Given the description of an element on the screen output the (x, y) to click on. 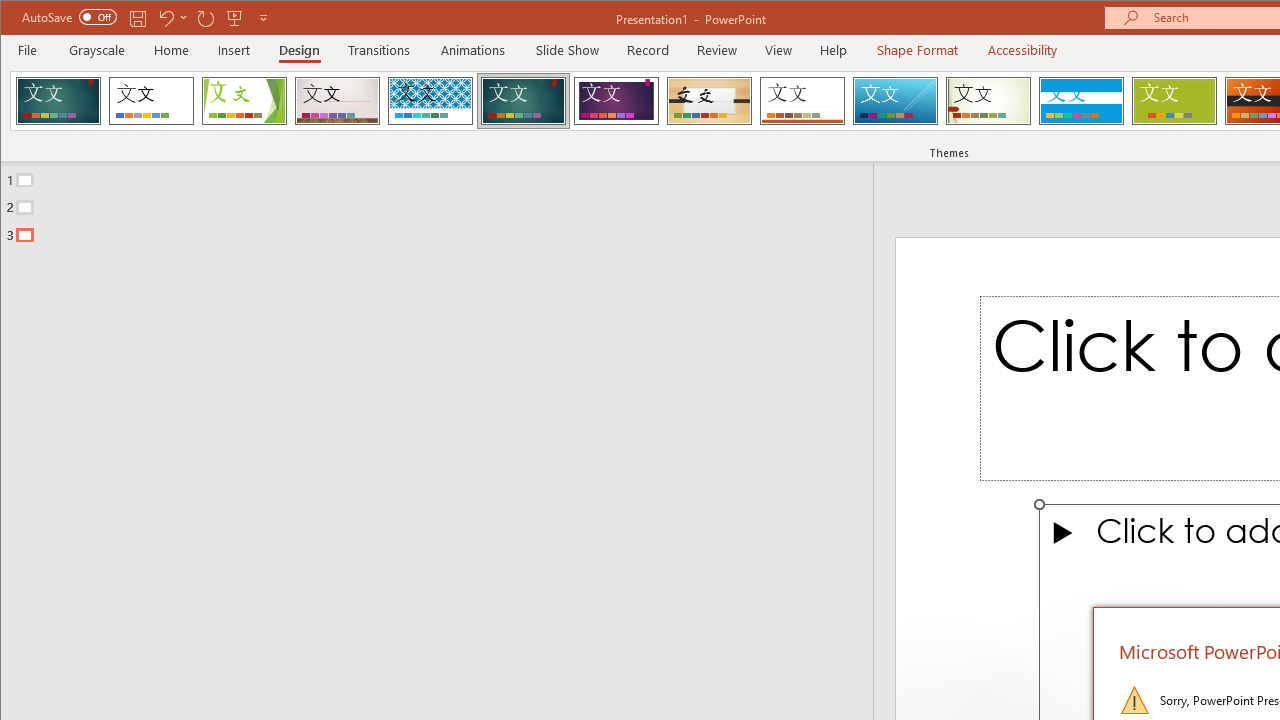
Basis (1174, 100)
Ion (523, 100)
Retrospect (802, 100)
Dividend (57, 100)
Grayscale (97, 50)
Gallery (337, 100)
